Given the description of an element on the screen output the (x, y) to click on. 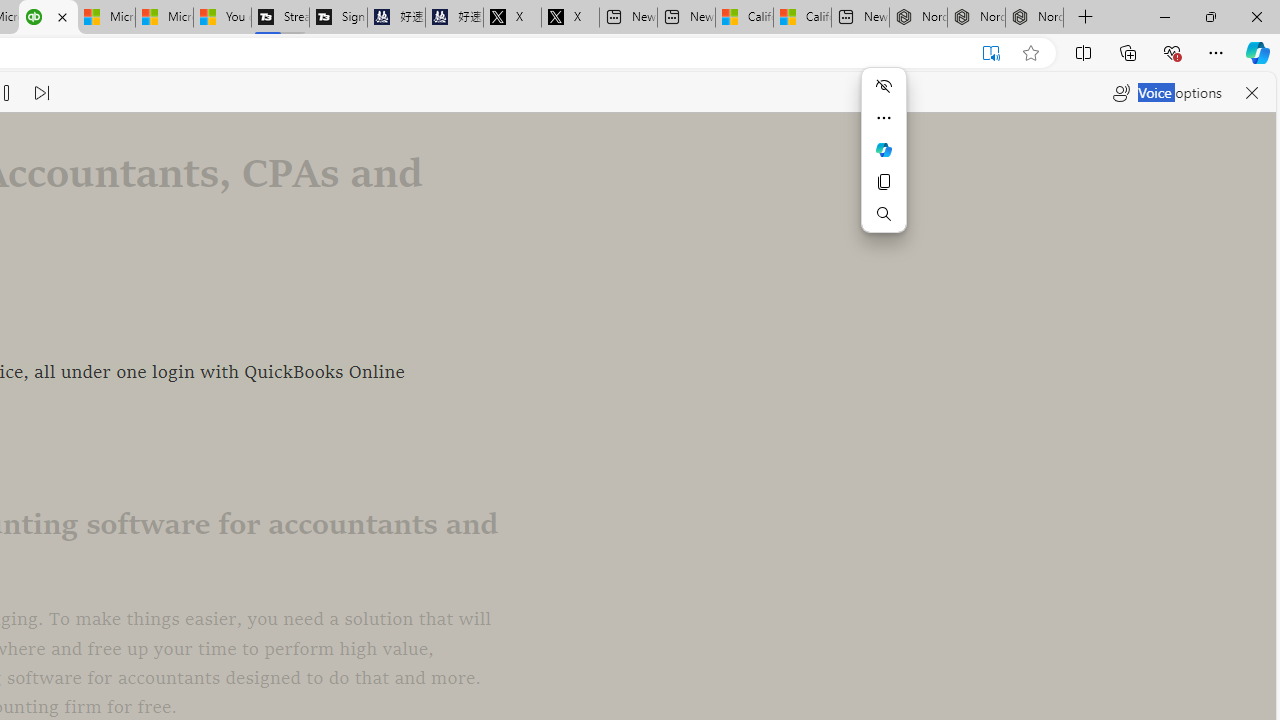
Mini menu on text selection (883, 149)
Accounting Software for Accountants, CPAs and Bookkeepers (48, 17)
Copy (883, 182)
Hide menu (883, 85)
Ask Copilot (883, 149)
Read next paragraph (41, 92)
